Given the description of an element on the screen output the (x, y) to click on. 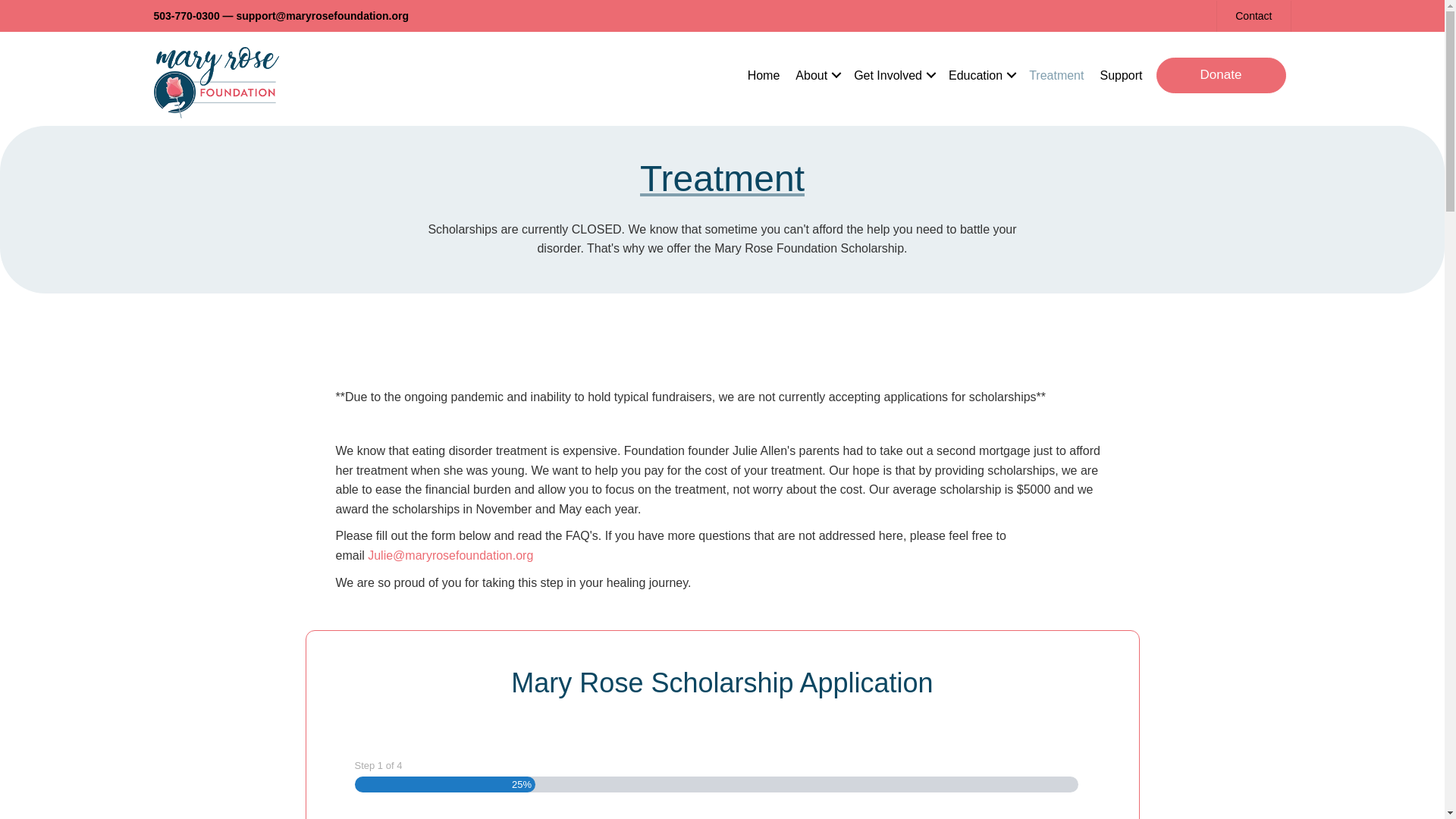
Home (763, 75)
Support (1121, 75)
503-770-0300 (185, 15)
Contact (1252, 15)
Donate (1220, 74)
Get Involved (892, 75)
Treatment (1056, 75)
Education (980, 75)
About (816, 75)
